Given the description of an element on the screen output the (x, y) to click on. 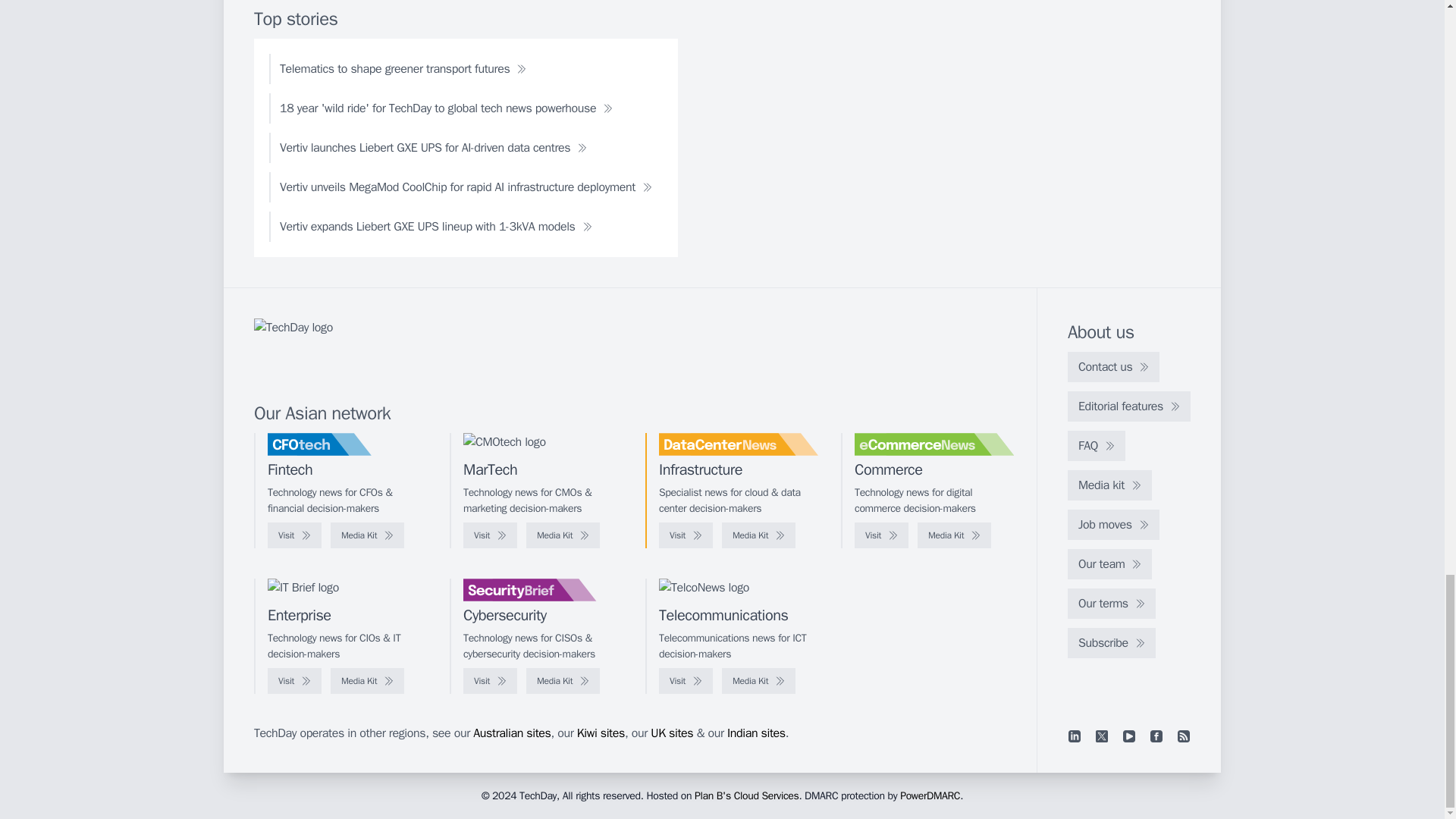
Media Kit (562, 534)
Media Kit (954, 534)
Telematics to shape greener transport futures (403, 69)
Vertiv launches Liebert GXE UPS for AI-driven data centres (432, 147)
Vertiv expands Liebert GXE UPS lineup with 1-3kVA models (435, 226)
Visit (881, 534)
Media Kit (758, 534)
Media Kit (367, 534)
Visit (294, 534)
